Given the description of an element on the screen output the (x, y) to click on. 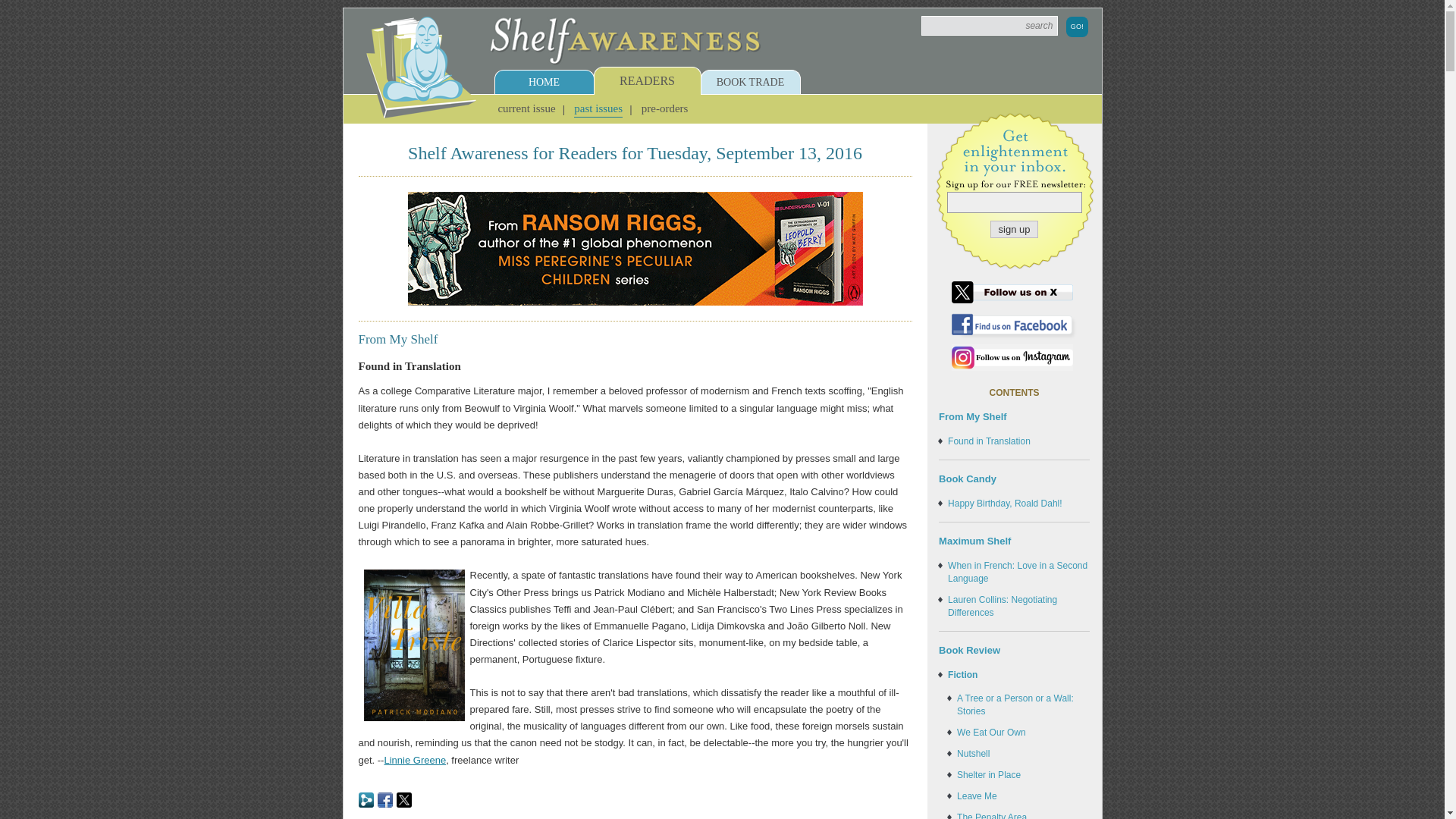
Linnie Greene (414, 758)
READERS (647, 81)
current issue (525, 108)
HOME (543, 82)
X (403, 799)
pre-orders (665, 108)
Share to X (403, 799)
Share to Facebook (385, 799)
sign up (1014, 229)
BOOK TRADE (749, 82)
past issues (598, 108)
Facebook (385, 799)
Search News and Articles (989, 25)
Go! (1076, 26)
Go! (1076, 26)
